Given the description of an element on the screen output the (x, y) to click on. 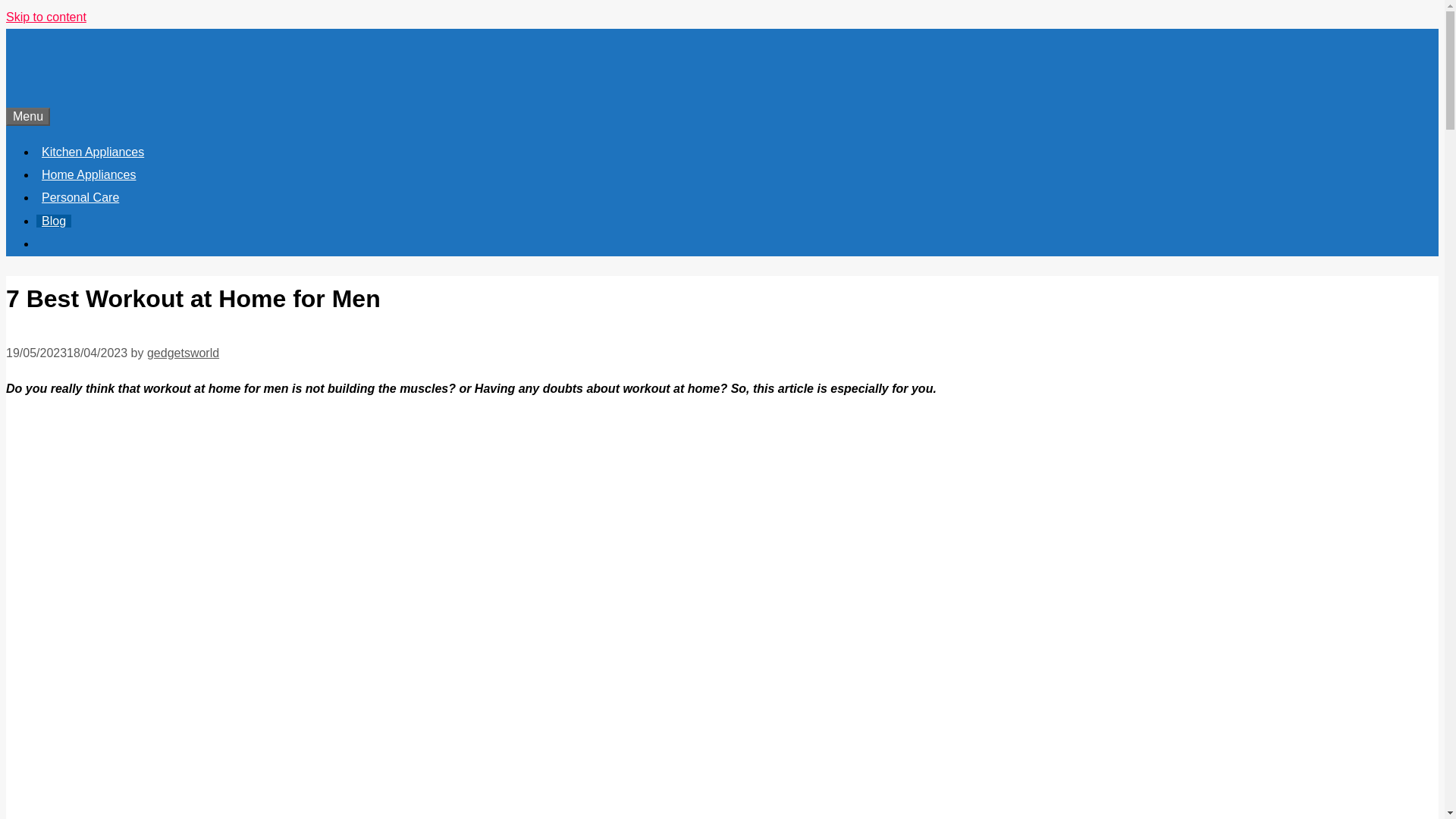
Skip to content (45, 16)
Kitchen Appliances (92, 151)
gedgetsworld (183, 352)
Skip to content (45, 16)
View all posts by gedgetsworld (183, 352)
Menu (27, 116)
Gedgetsworld (69, 69)
Personal Care (79, 196)
Blog (53, 220)
Gedgetsworld (69, 51)
